Given the description of an element on the screen output the (x, y) to click on. 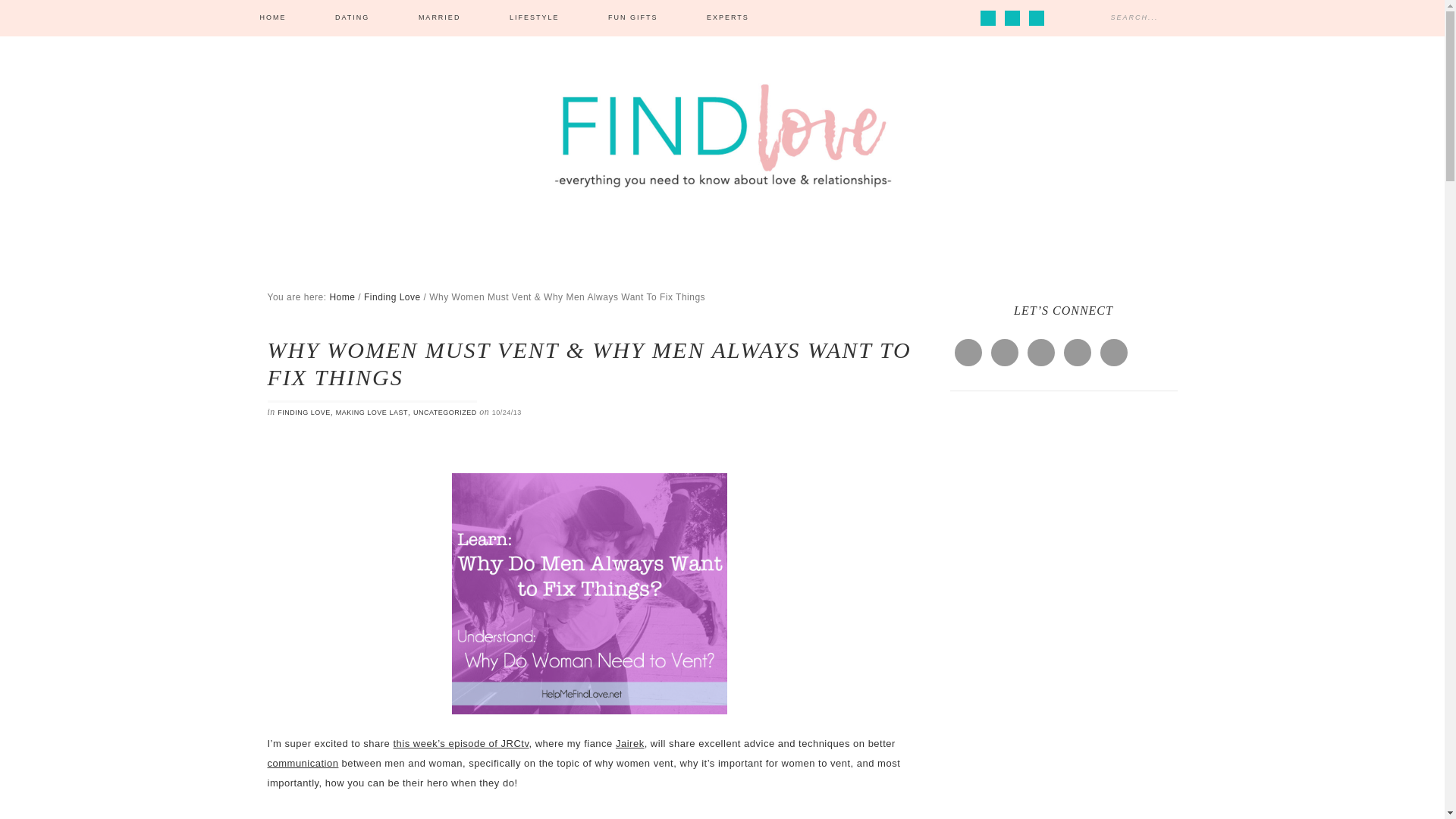
LIFESTYLE (534, 18)
FUN GIFTS (633, 18)
Finding Love (392, 296)
EXPERTS (727, 18)
DATING (352, 18)
FINDING LOVE (304, 412)
communication (301, 763)
On his blog (293, 817)
UNCATEGORIZED (445, 412)
Home (342, 296)
Jairek (630, 743)
